Given the description of an element on the screen output the (x, y) to click on. 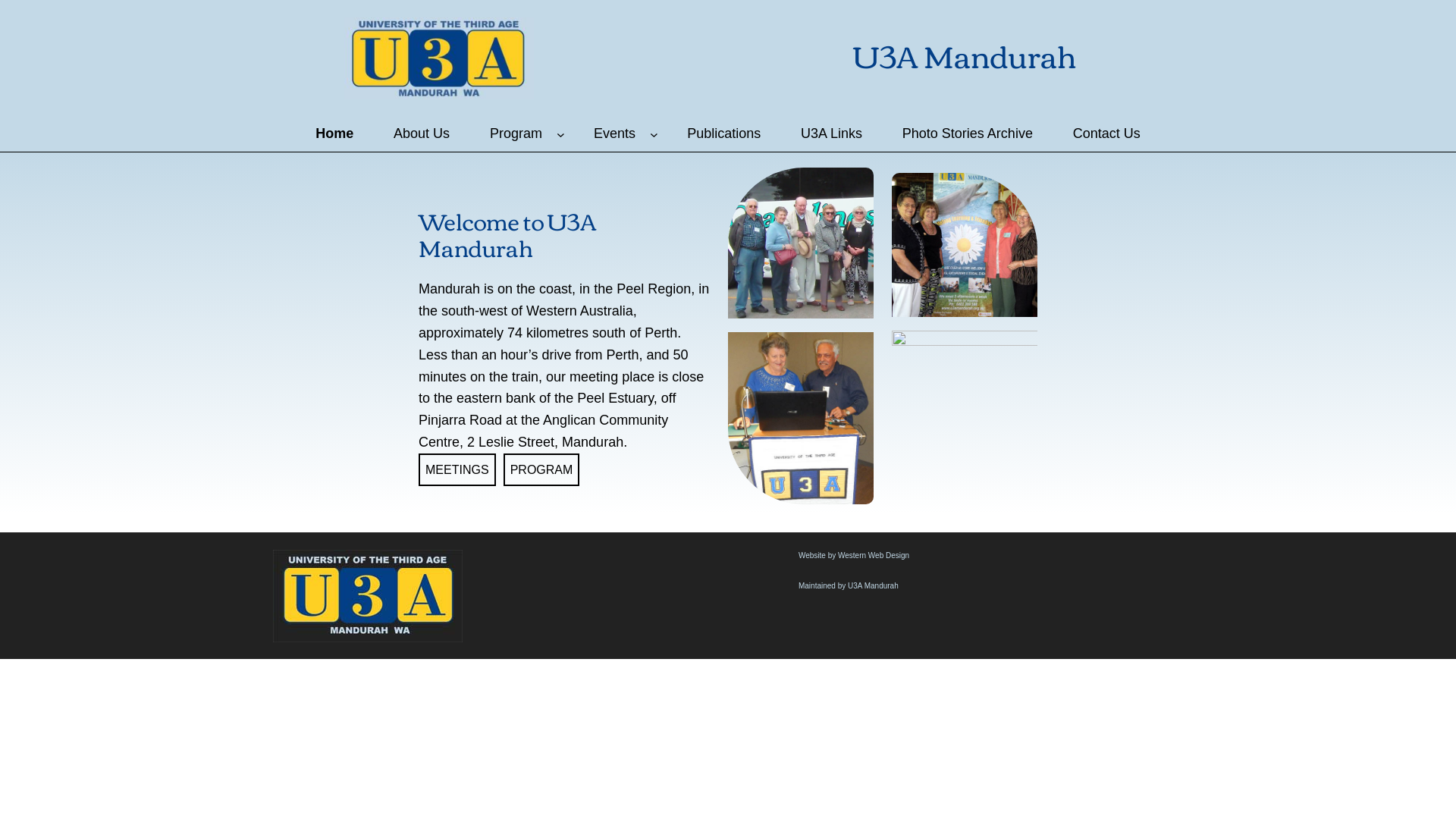
Events Element type: text (614, 133)
Program Element type: text (516, 133)
PROGRAM Element type: text (541, 469)
Publications Element type: text (723, 133)
MEETINGS Element type: text (456, 469)
Contact Us Element type: text (1106, 133)
Photo Stories Archive Element type: text (967, 133)
U3A Links Element type: text (831, 133)
Home Element type: text (334, 133)
About Us Element type: text (421, 133)
